Given the description of an element on the screen output the (x, y) to click on. 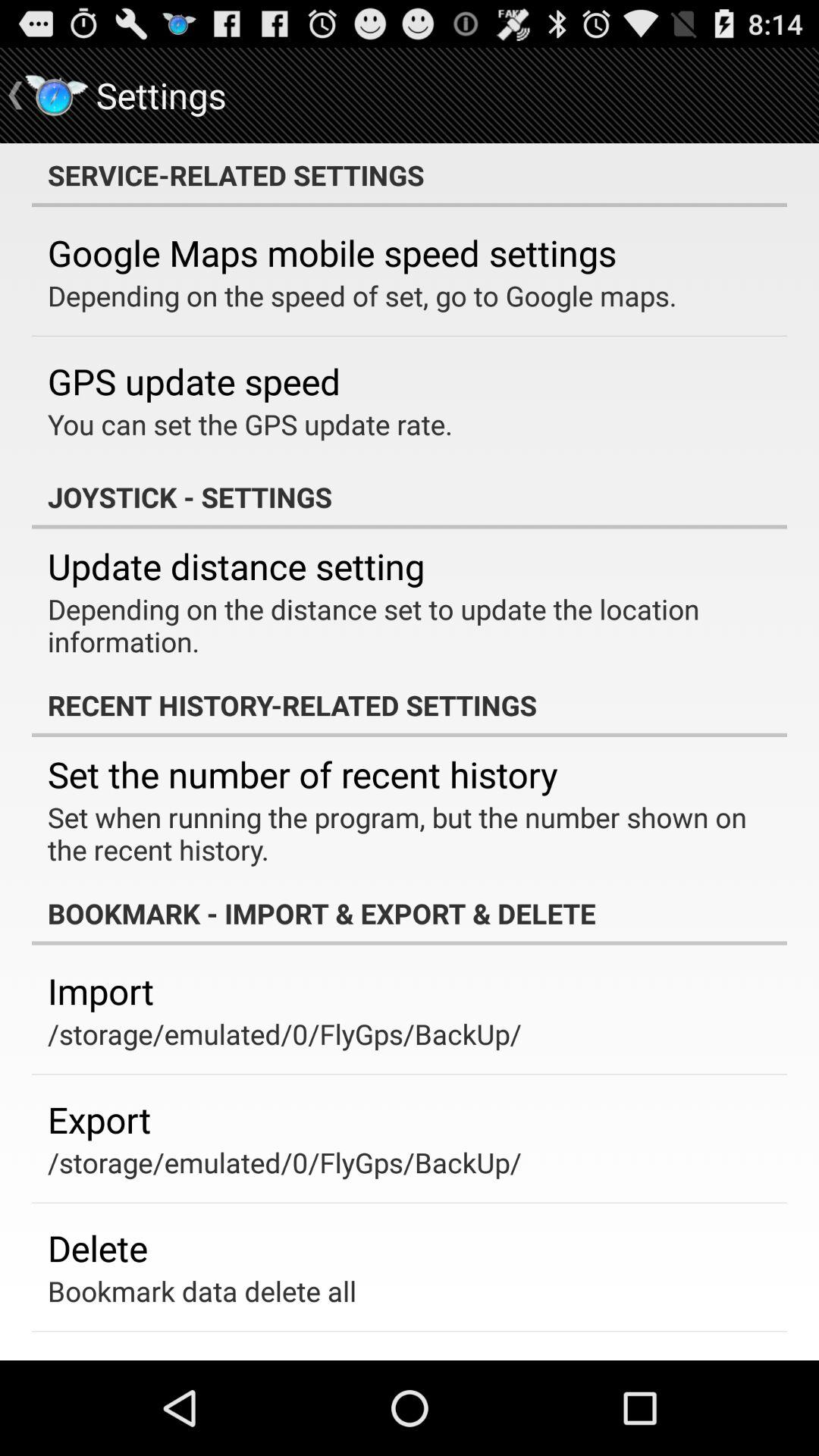
press item above the bookmark import export (399, 833)
